Given the description of an element on the screen output the (x, y) to click on. 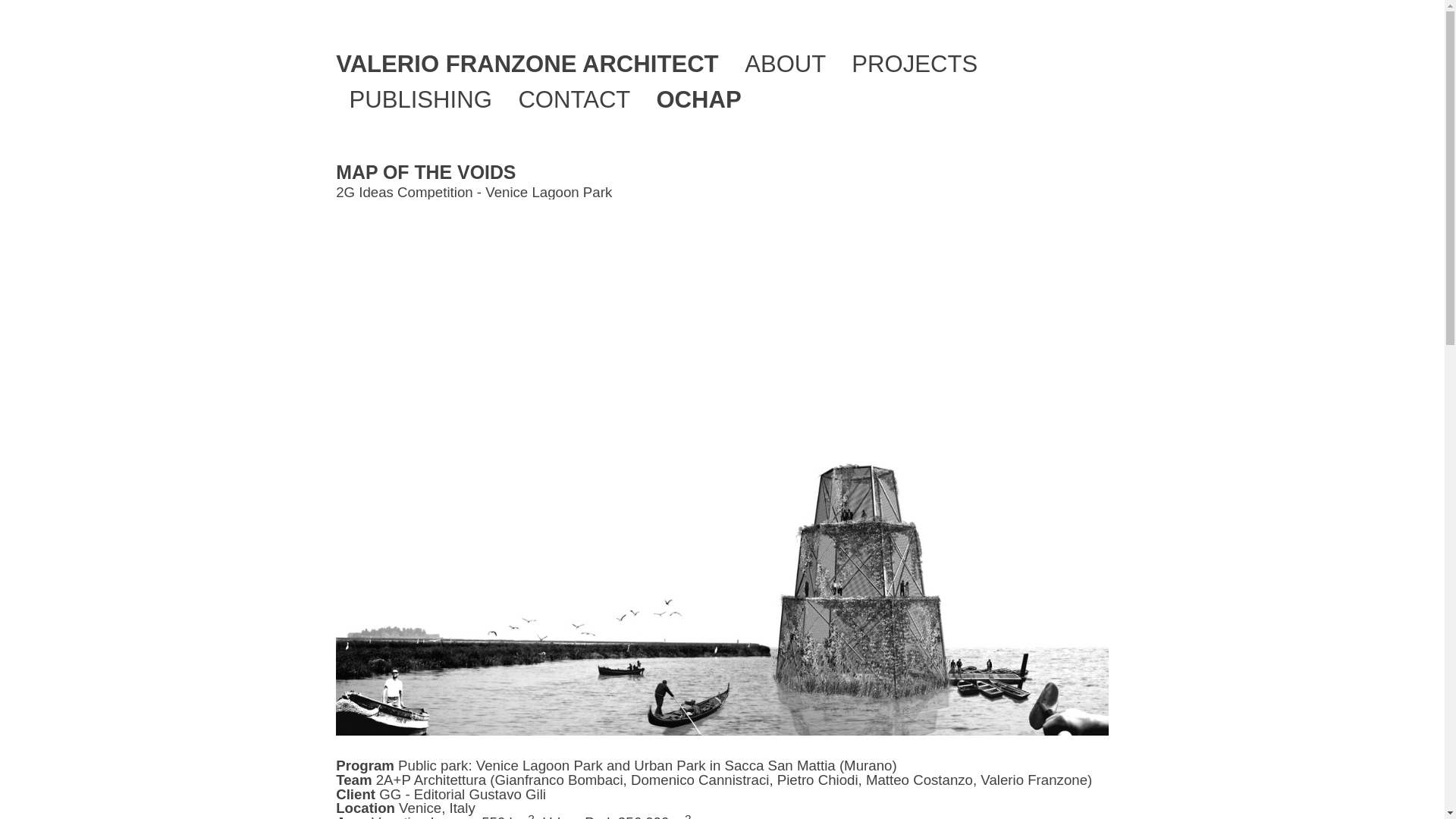
CONTACT (573, 99)
VALERIO FRANZONE ARCHITECT (526, 63)
PUBLISHING (420, 99)
OCHAP (698, 99)
ABOUT (784, 63)
PROJECTS (913, 63)
